Given the description of an element on the screen output the (x, y) to click on. 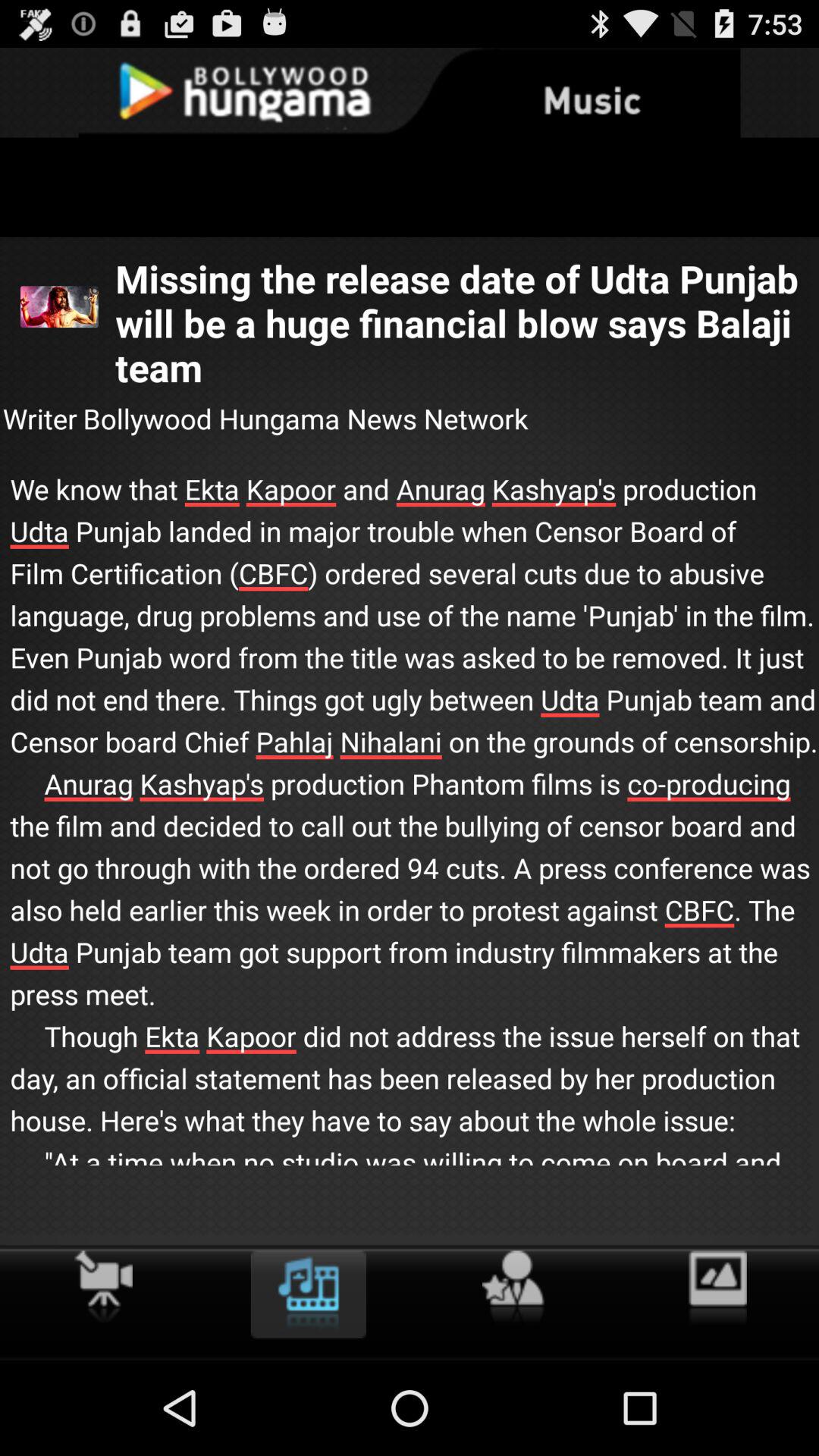
a place to go somewhere else (512, 1287)
